Given the description of an element on the screen output the (x, y) to click on. 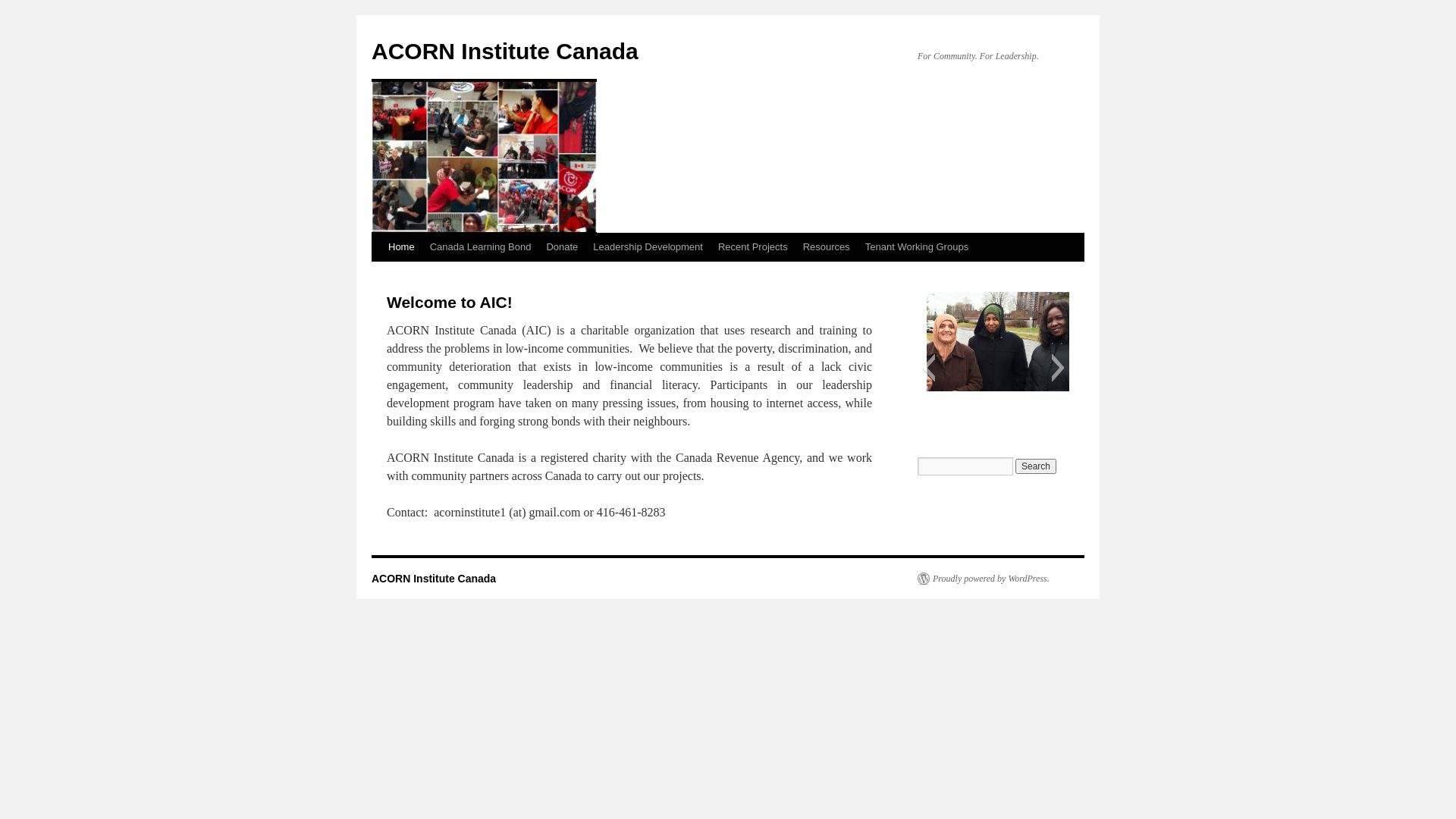
Skip to content Element type: text (377, 275)
ACORN Institute Canada Element type: text (504, 50)
Proudly powered by WordPress. Element type: text (983, 578)
Search Element type: text (1035, 465)
ACORN Institute Canada Element type: text (433, 578)
Home Element type: text (401, 246)
Donate Element type: text (561, 246)
Tenant Working Groups Element type: text (916, 246)
Canada Learning Bond Element type: text (480, 246)
Resources Element type: text (826, 246)
Recent Projects Element type: text (752, 246)
Leadership Development Element type: text (647, 246)
